Given the description of an element on the screen output the (x, y) to click on. 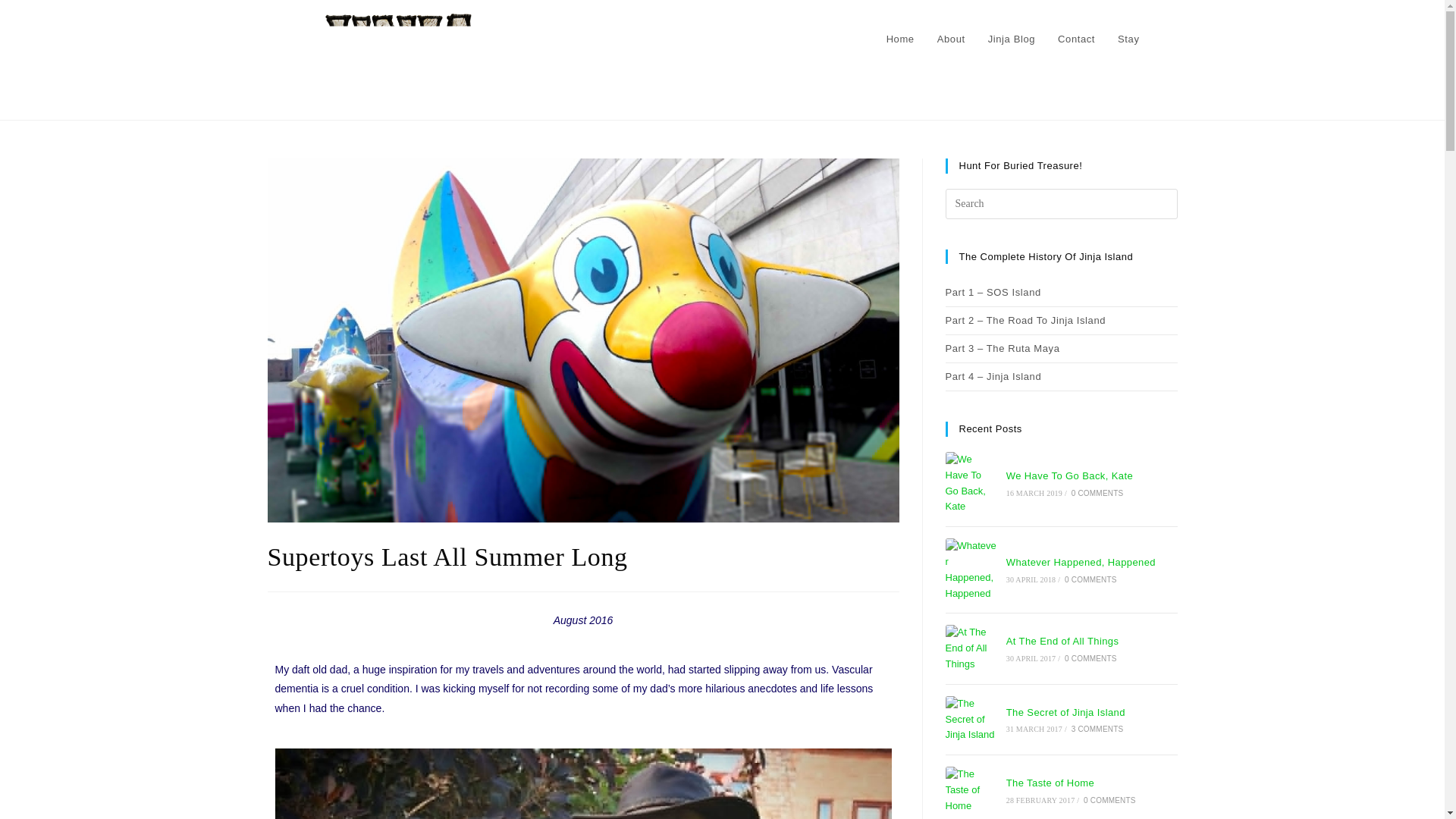
About (951, 39)
The Secret of Jinja Island (969, 719)
Home (900, 39)
The Taste of Home (969, 790)
At The End of All Things (969, 647)
Jinja Blog (1011, 39)
Contact (1076, 39)
